Given the description of an element on the screen output the (x, y) to click on. 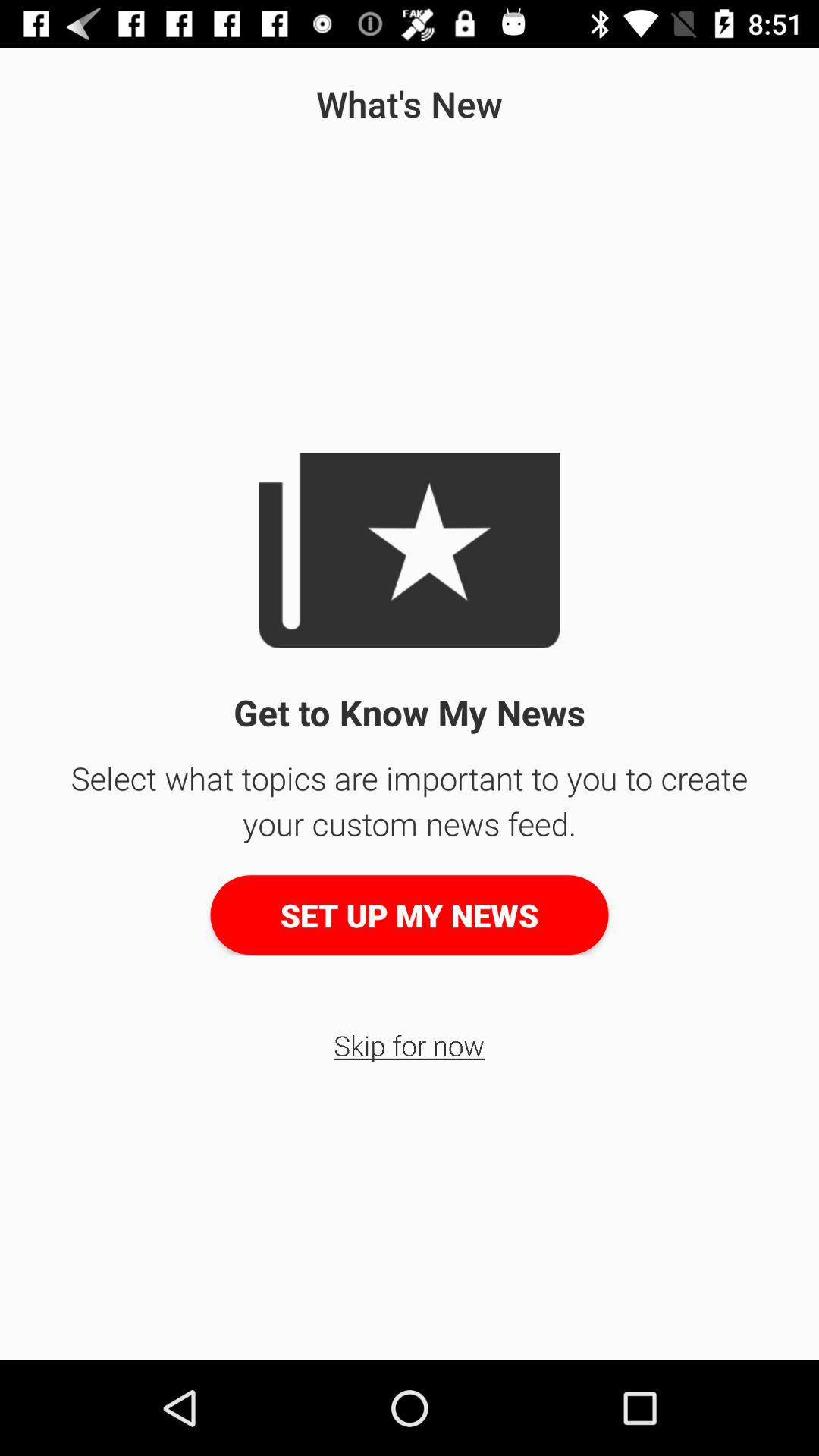
select app below select what topics item (409, 914)
